Given the description of an element on the screen output the (x, y) to click on. 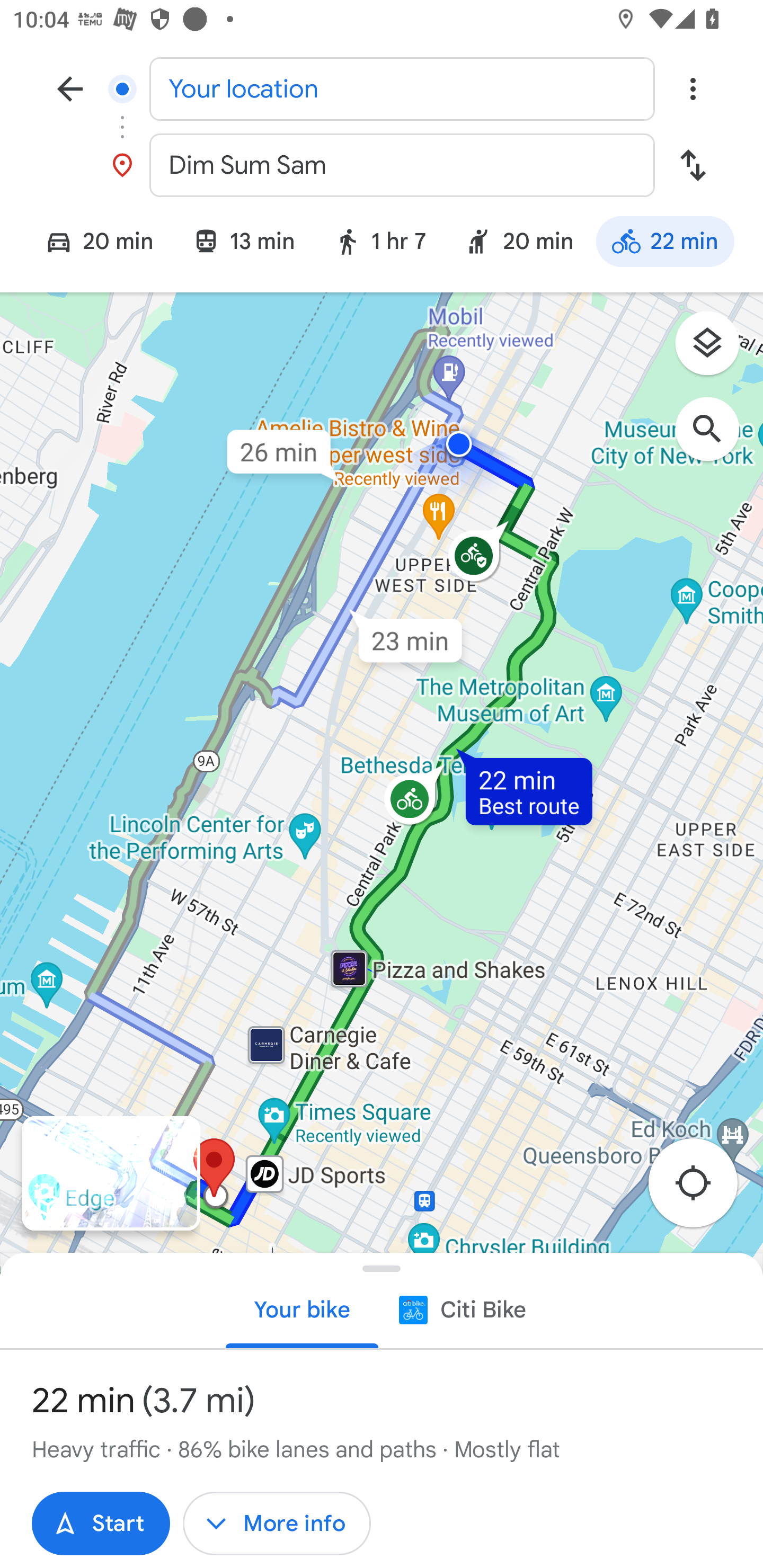
Navigate up (70, 88)
Your location Start location, Your location (381, 88)
Overflow menu (692, 88)
Dim Sum Sam Destination, Dim Sum Sam (381, 165)
Swap start and destination (692, 165)
Driving mode: 20 min 20 min (90, 244)
Transit mode: 13 min 13 min (243, 244)
Walking mode: 1 hr 7 1 hr 7 (379, 244)
Ride service: 20 min 20 min (518, 244)
Layers (716, 349)
Search along route (716, 438)
Open Immersive View for routes (110, 1173)
Re-center map to your location (702, 1188)
Citi Bike (460, 1309)
More info More info More info (276, 1522)
